Given the description of an element on the screen output the (x, y) to click on. 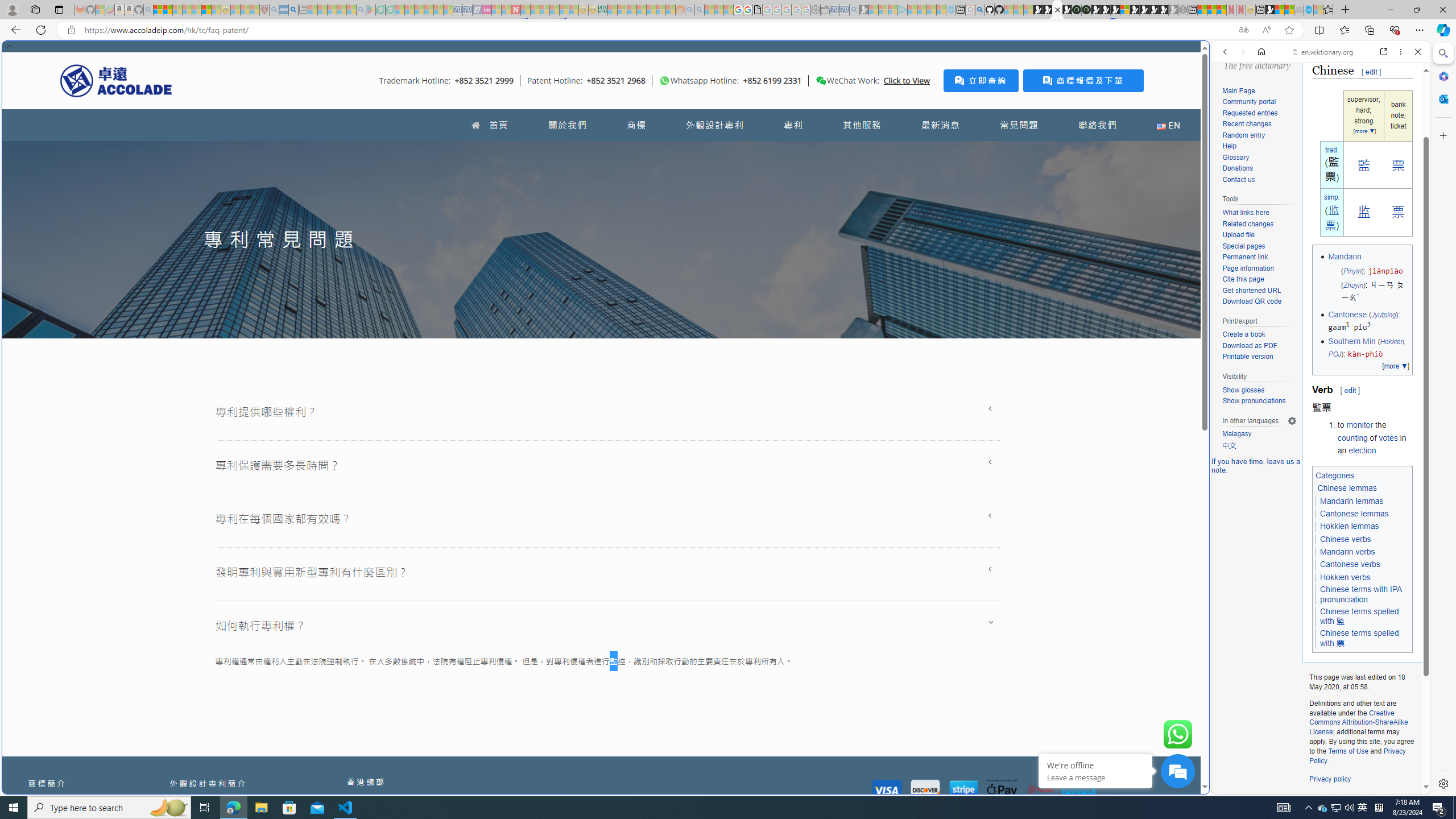
Show pronunciations (1259, 401)
Language settings (1292, 420)
Categories (1335, 474)
Page information (1247, 267)
